Given the description of an element on the screen output the (x, y) to click on. 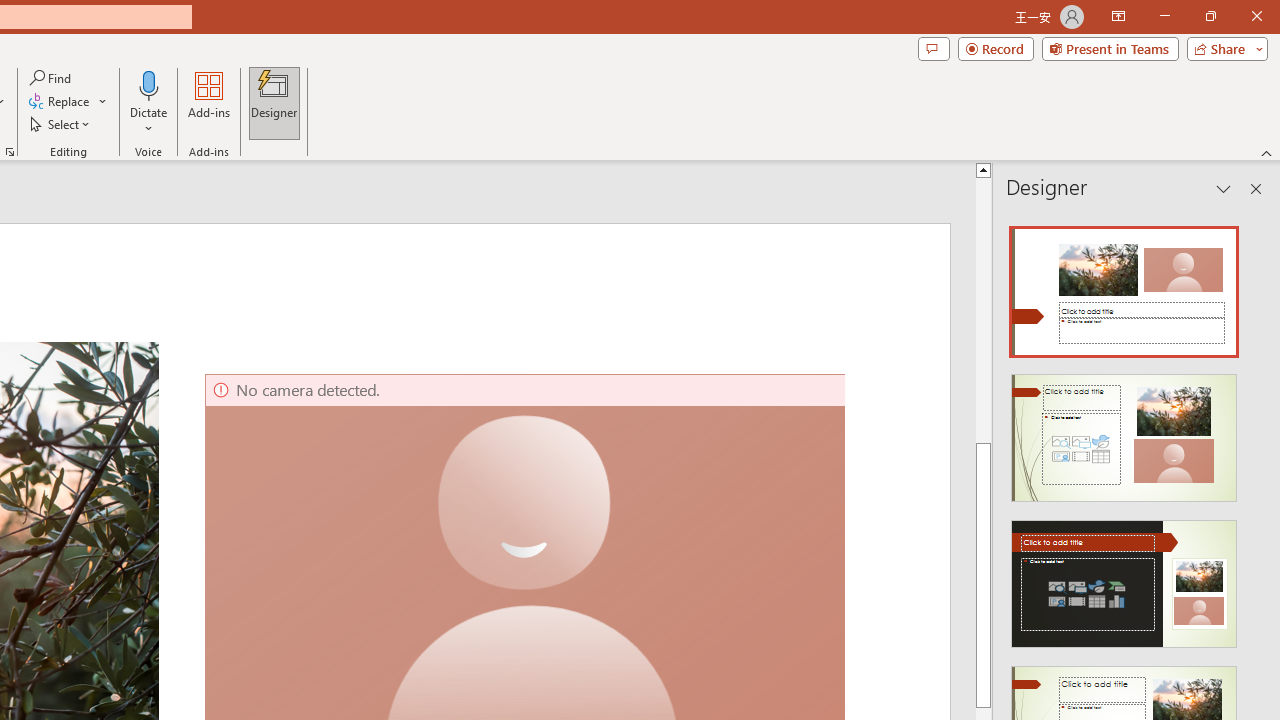
Class: NetUIImage (1124, 584)
Page up (1271, 309)
Replace... (68, 101)
Format Object... (9, 151)
Recommended Design: Design Idea (1124, 286)
Close pane (1256, 188)
Design Idea (1124, 577)
Line up (1271, 169)
Dictate (149, 102)
